Given the description of an element on the screen output the (x, y) to click on. 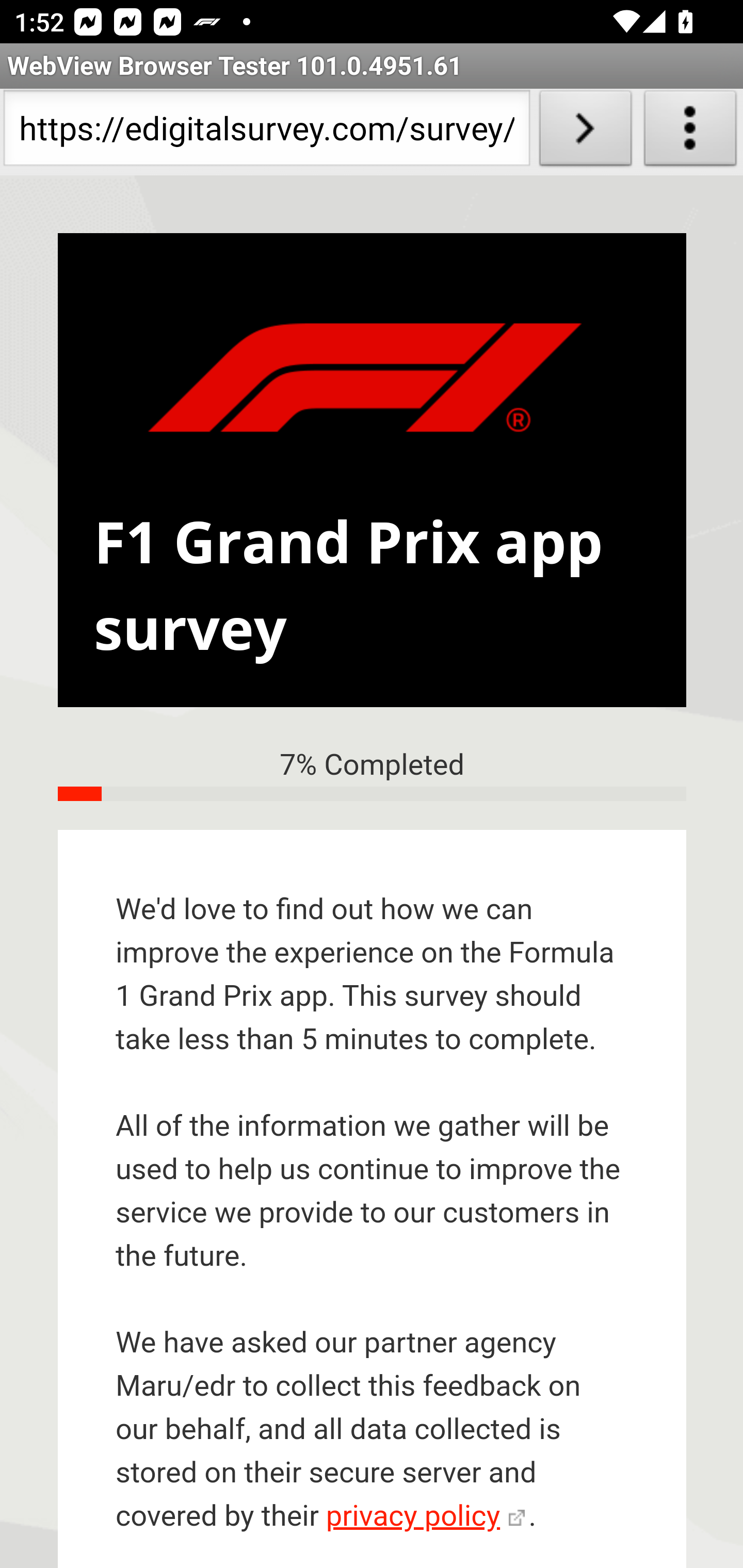
Load URL (585, 132)
About WebView (690, 132)
privacy policy  privacy policy    (425, 1517)
